Given the description of an element on the screen output the (x, y) to click on. 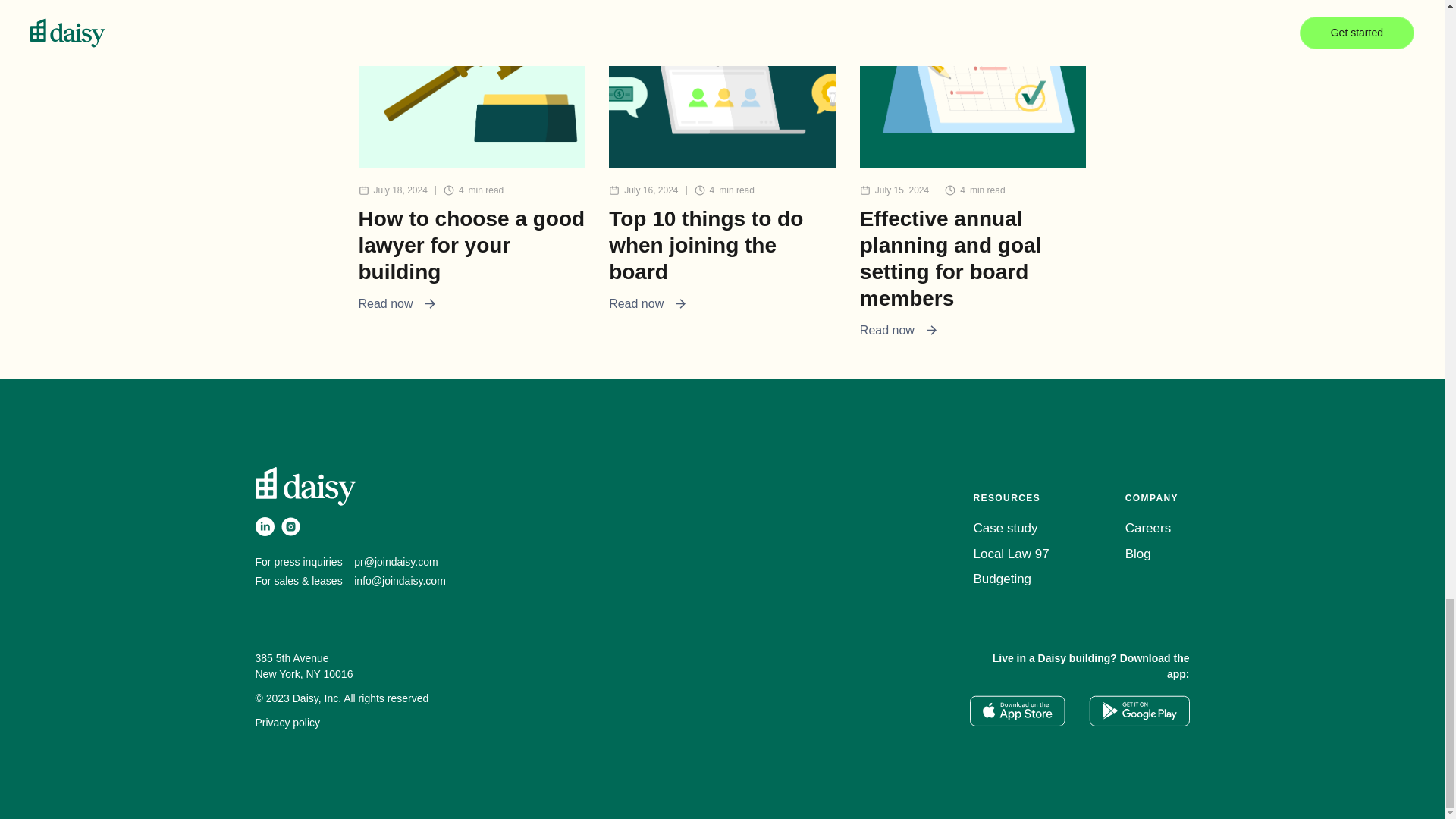
Careers (1151, 528)
Blog (1151, 554)
Budgeting (1011, 578)
Privacy policy (287, 722)
Case study (1011, 528)
Local Law 97 (1011, 554)
